Given the description of an element on the screen output the (x, y) to click on. 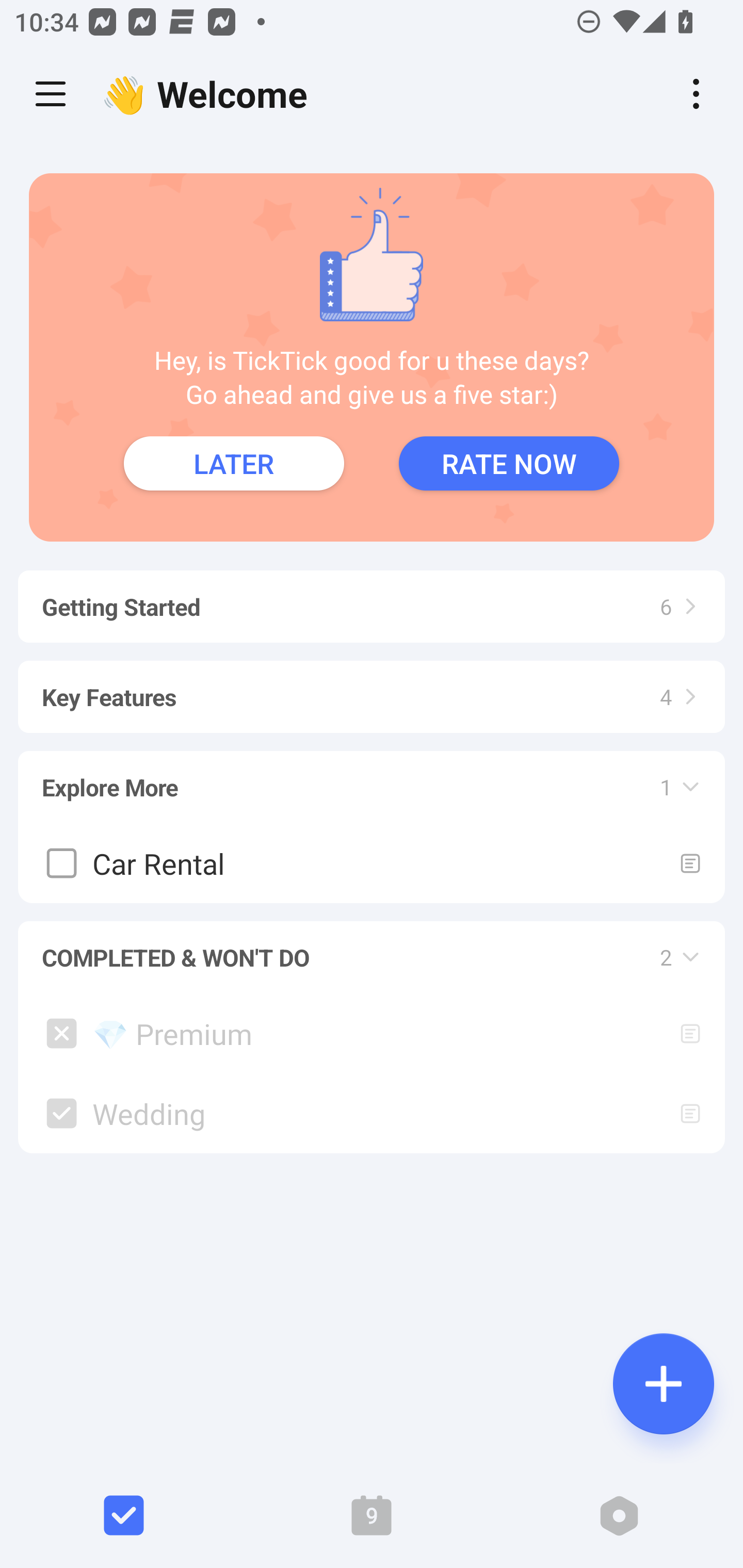
👋 Welcome (209, 93)
LATER (234, 462)
RATE NOW (508, 462)
Getting Started 6 (371, 596)
Key Features 4 (371, 687)
Explore More 1 (371, 777)
Car Rental (371, 863)
COMPLETED & WON'T DO 2 (371, 948)
💎 Premium (371, 1034)
Wedding (371, 1114)
